Given the description of an element on the screen output the (x, y) to click on. 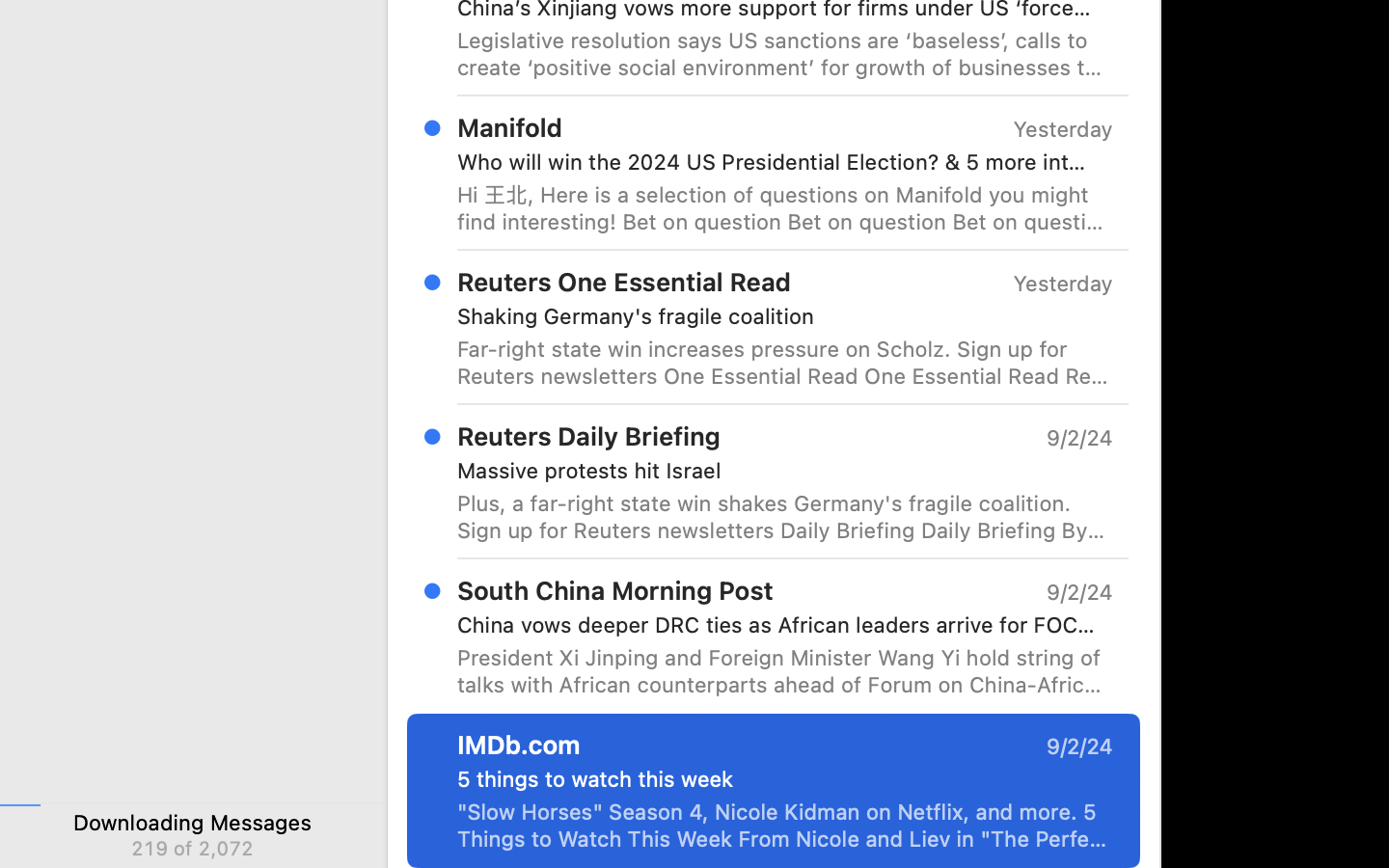
Hi 王北, Here is a selection of questions on Manifold you might find interesting! Bet on question Bet on question Bet on question Bet on question Bet on question Bet on question 🔎 Explore Manifold This e-mail has been sent to 王北, click here to unsubscribe from this type of notification. Element type: AXStaticText (784, 208)
Yesterday Element type: AXStaticText (1062, 128)
Who will win the 2024 US Presidential Election? & 5 more interesting markets on Manifold Element type: AXStaticText (777, 161)
President Xi Jinping and Foreign Minister Wang Yi hold string of talks with African counterparts ahead of Forum on China-Africa ... - South China Morning Post, SCMP, SCMP Today: Intl Edition - President Xi Jinping and Foreign Minister Wang Yi hold string of talks with African counterparts ahead of Forum on China-Africa ... Monday 2nd September, 2024 China politics & diplomacy ChinaChina vows deeper DRC ties as African leaders arrive for FOCAC meetings2 Sep, 2024 - 05:13 pmPresident Xi Jinping and Foreign Minister Wang Yi hold string of talks with African counterparts ahead of Forum on China-Africa Cooperation. EconomyChina moves to curb money worship, extravagance and excess in financial sector2 Sep, 2024 - 04:04 pm EconomyChina’s yuan to continue to gain, but outlook hinges on Fed rate cuts: analysts2 Sep, 2024 - 05:42 pm Featured Podcast3. Millennials, GenZ and hire education Video Of The Day Hong Kong’s youngest Paralympic medallist Jasmine Ng clinches swimming bronze at age 14OPINI Element type: AXStaticText (784, 671)
Massive protests hit Israel Element type: AXStaticText (777, 470)
